Given the description of an element on the screen output the (x, y) to click on. 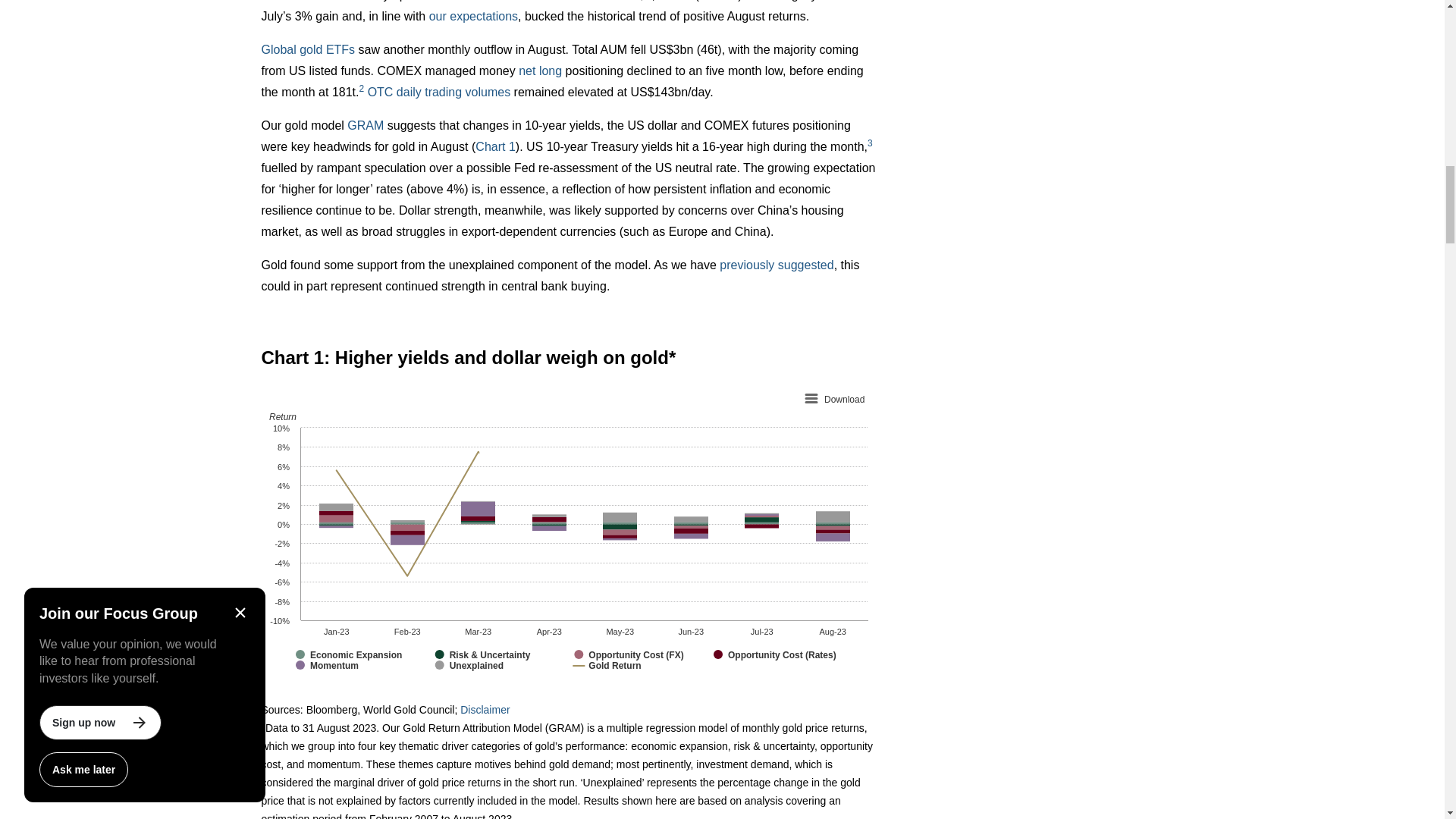
our expectations (473, 15)
net long (540, 70)
Chart 1 (495, 146)
Table 1 (718, 0)
OTC daily trading volumes (439, 91)
GRAM (365, 124)
Global gold ETFs (307, 49)
previously suggested (775, 264)
